Given the description of an element on the screen output the (x, y) to click on. 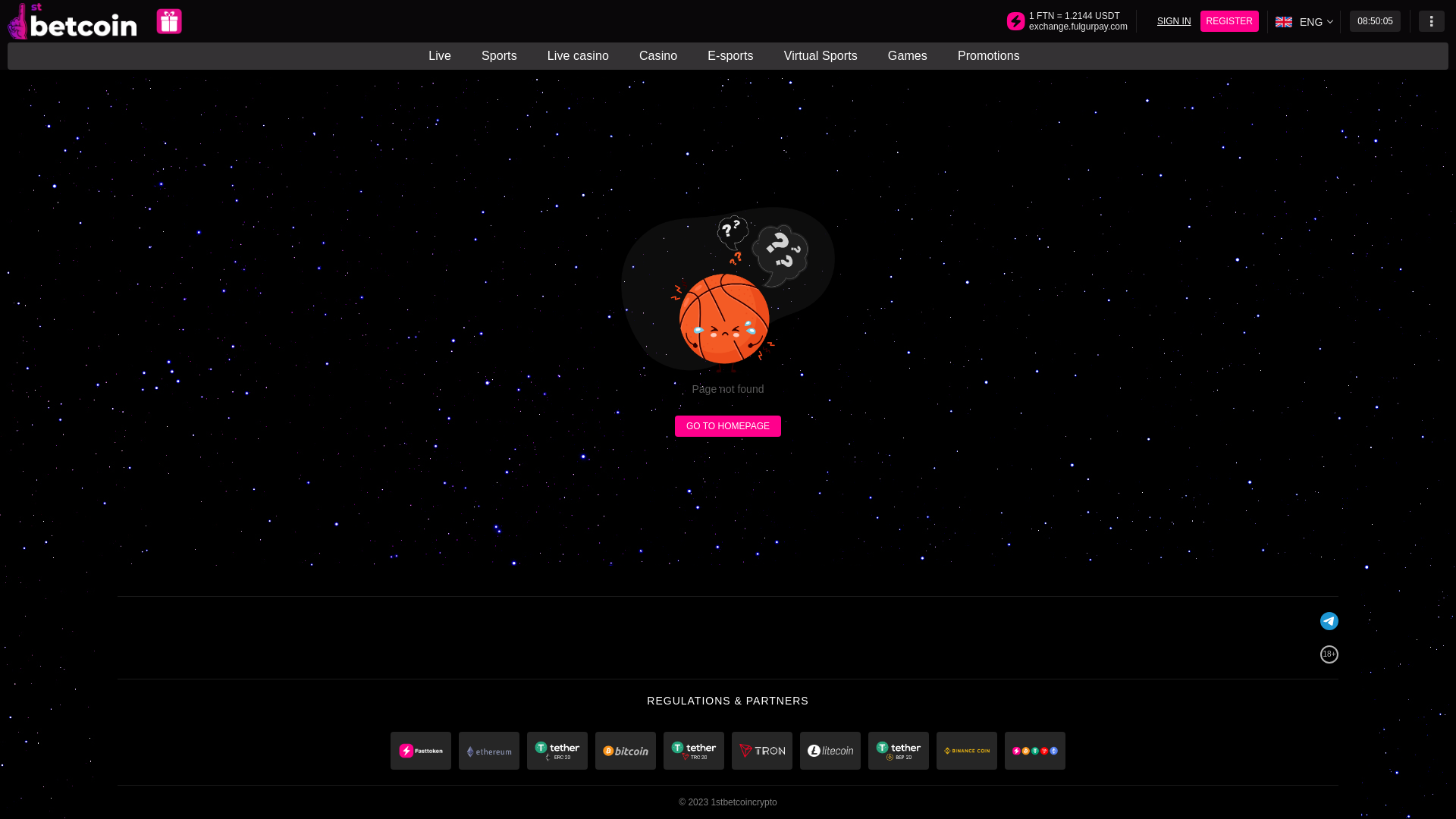
REGISTER Element type: text (1229, 20)
Live casino Element type: text (578, 55)
1 FTN = 1.2144 USDT
exchange.fulgurpay.com Element type: text (1078, 20)
Casino Element type: text (658, 55)
SIGN IN Element type: text (1174, 20)
GO TO HOMEPAGE Element type: text (727, 425)
Promotions Element type: text (988, 55)
Virtual Sports Element type: text (820, 55)
Sports Element type: text (499, 55)
Live Element type: text (443, 55)
Games Element type: text (907, 55)
E-sports Element type: text (730, 55)
